Given the description of an element on the screen output the (x, y) to click on. 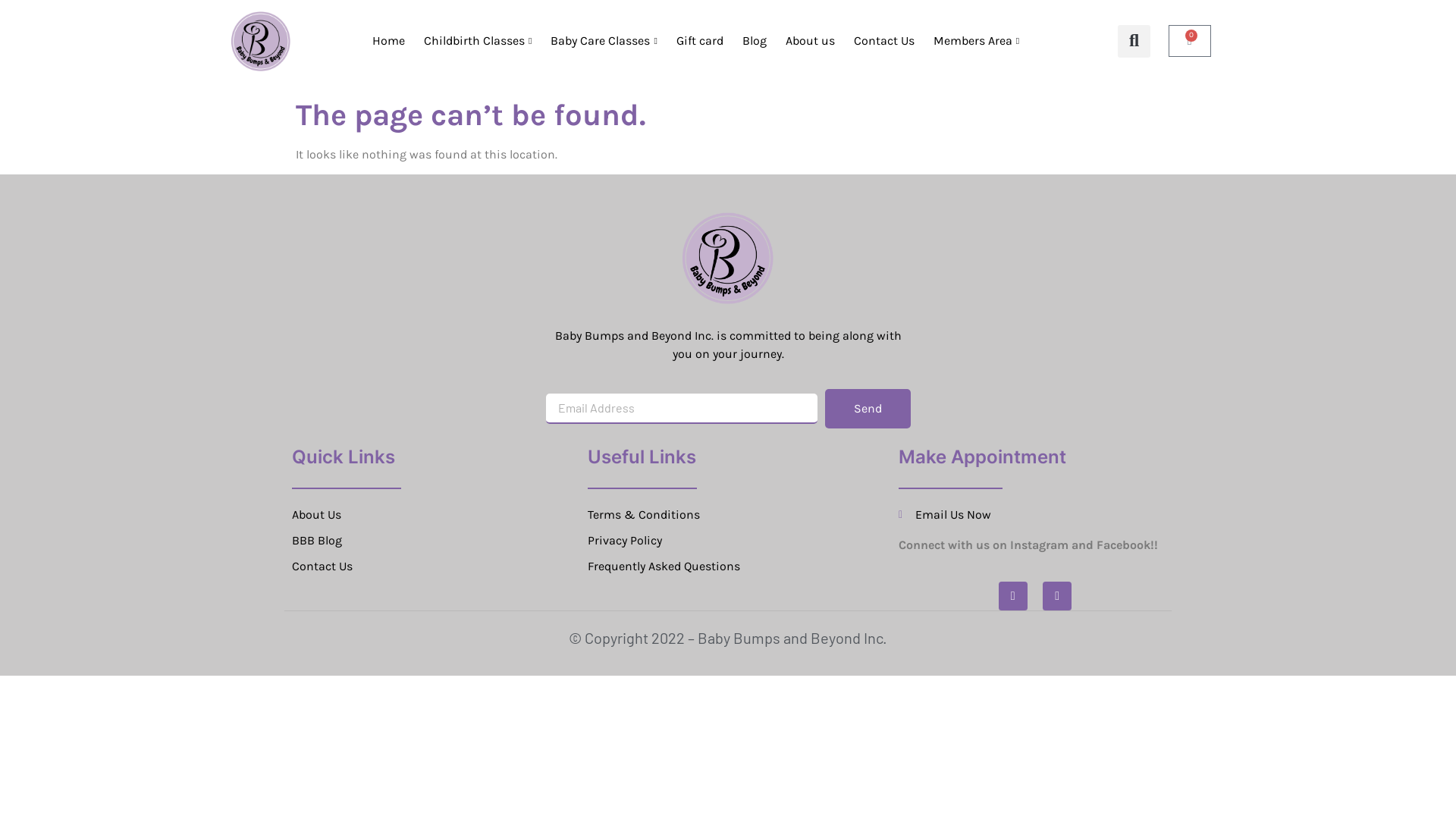
Contact Us Element type: text (882, 40)
Privacy Policy Element type: text (731, 540)
Gift card Element type: text (698, 40)
Blog Element type: text (752, 40)
0 Element type: text (1189, 40)
BBB Blog Element type: text (435, 540)
Send Element type: text (867, 408)
Terms & Conditions Element type: text (731, 514)
Home Element type: text (386, 40)
Baby Care Classes Element type: text (601, 40)
Contact Us Element type: text (435, 566)
Childbirth Classes Element type: text (475, 40)
Email Us Now Element type: text (1034, 514)
Members Area Element type: text (974, 40)
Frequently Asked Questions Element type: text (731, 566)
About us Element type: text (808, 40)
About Us Element type: text (435, 514)
